Given the description of an element on the screen output the (x, y) to click on. 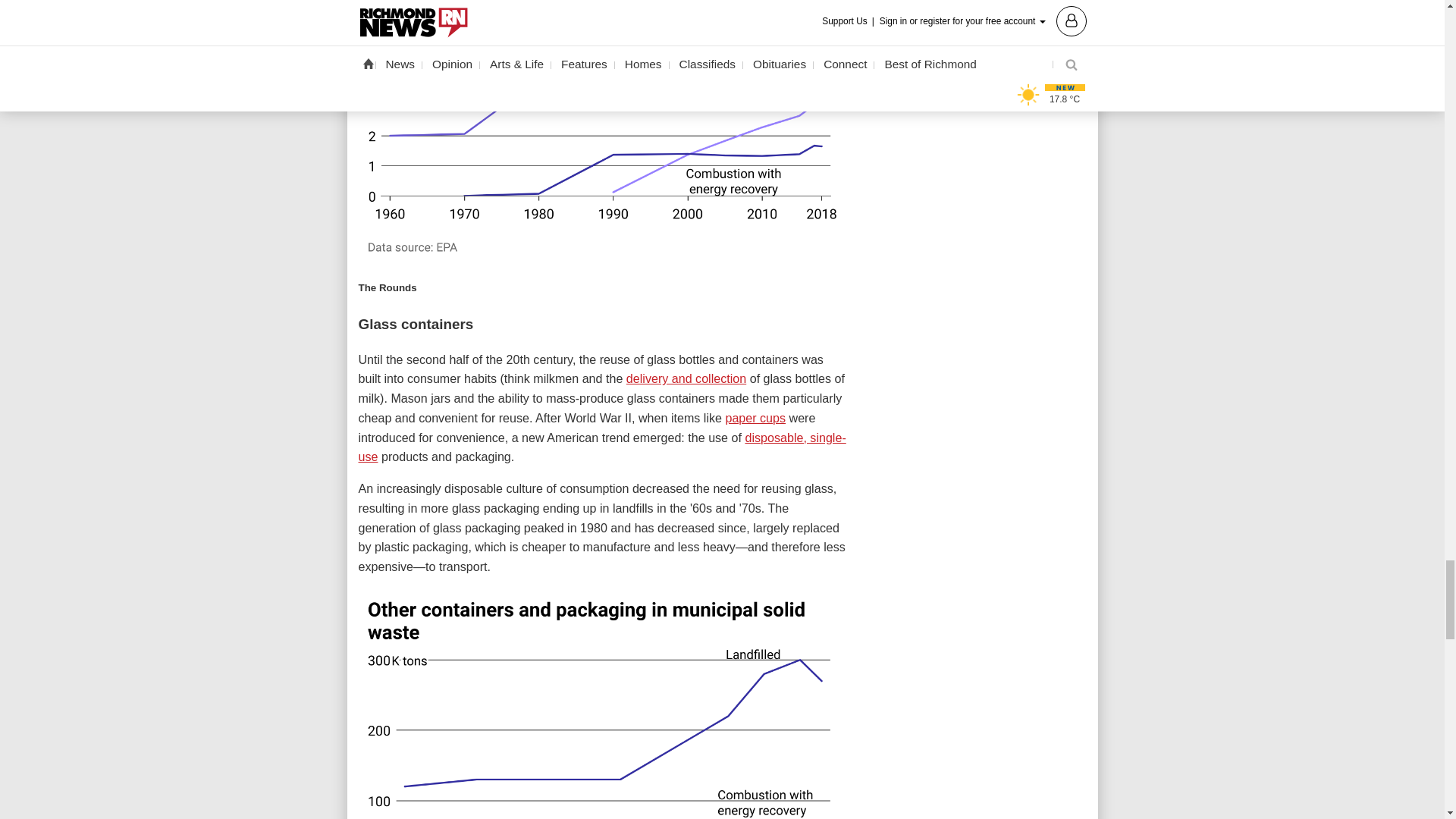
Wood containers (602, 703)
Glass containers (602, 131)
